Given the description of an element on the screen output the (x, y) to click on. 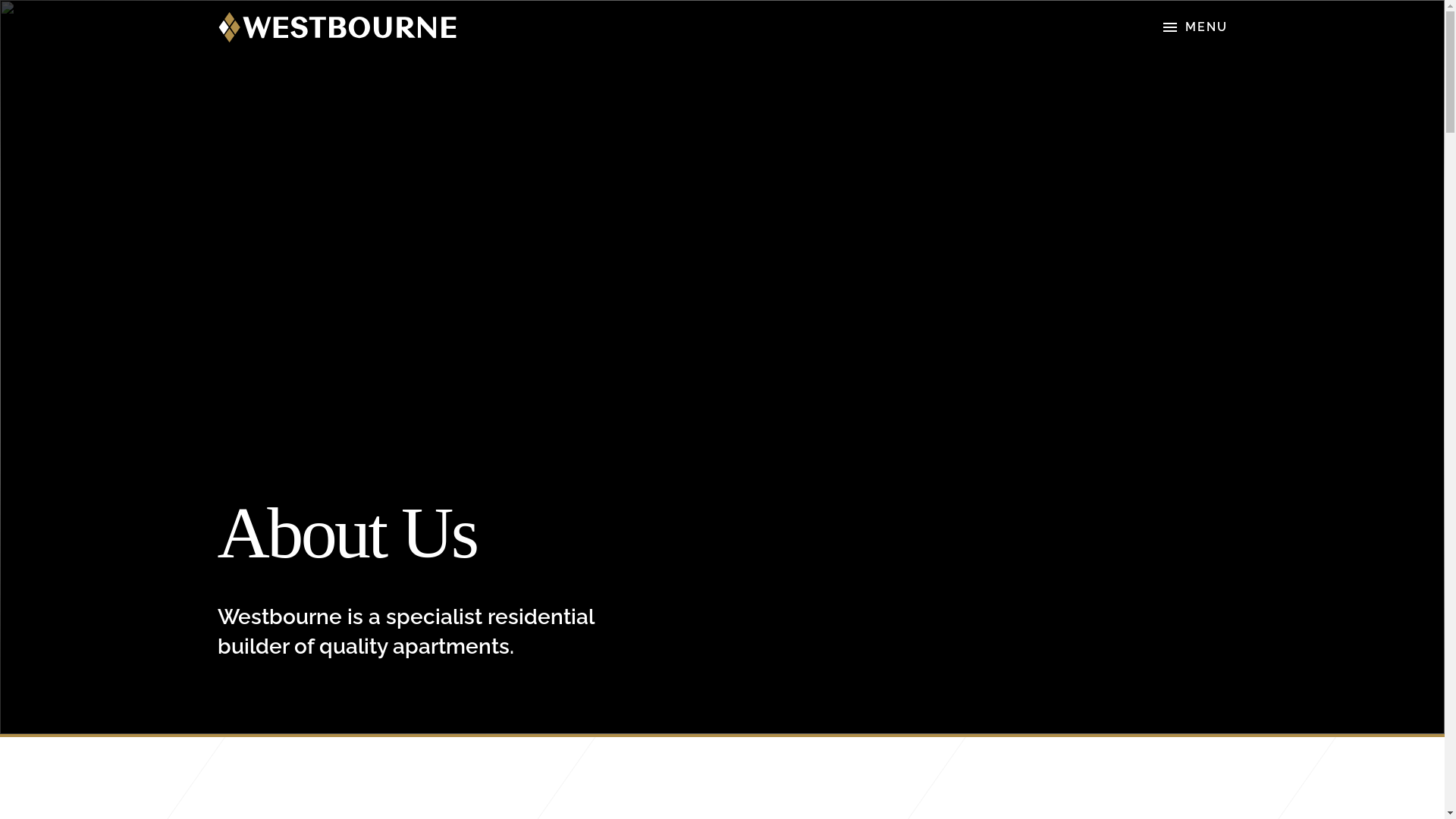
MENU Element type: text (1193, 27)
